Given the description of an element on the screen output the (x, y) to click on. 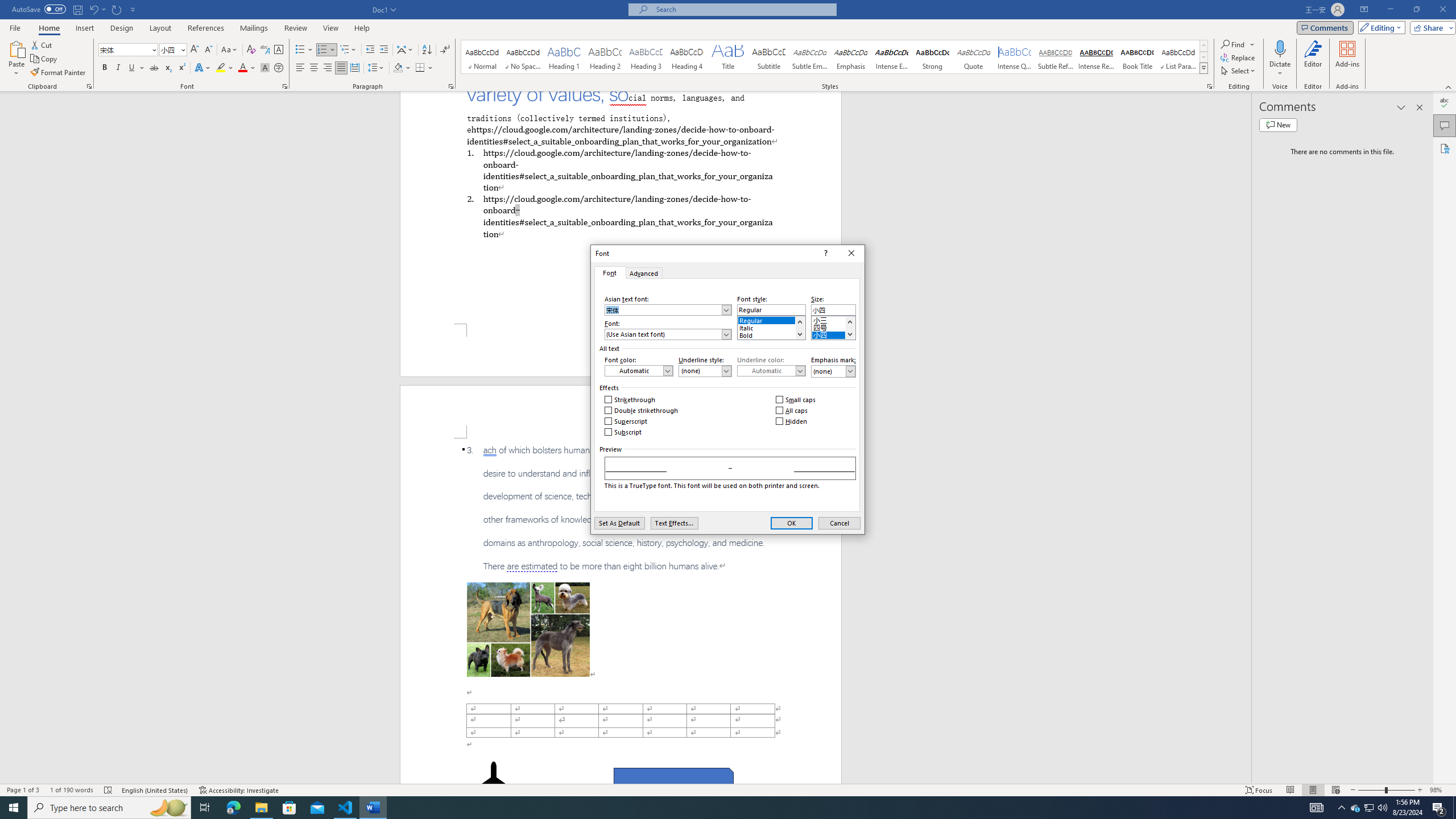
Borders (424, 67)
Find (1232, 44)
Comments (1325, 27)
Restore Down (1416, 9)
Word - 1 running window (373, 807)
Home (48, 28)
Shrink Font (208, 49)
Underline (131, 67)
Regular (771, 318)
Strikethrough (154, 67)
Zoom (1386, 790)
Italic (771, 326)
